Given the description of an element on the screen output the (x, y) to click on. 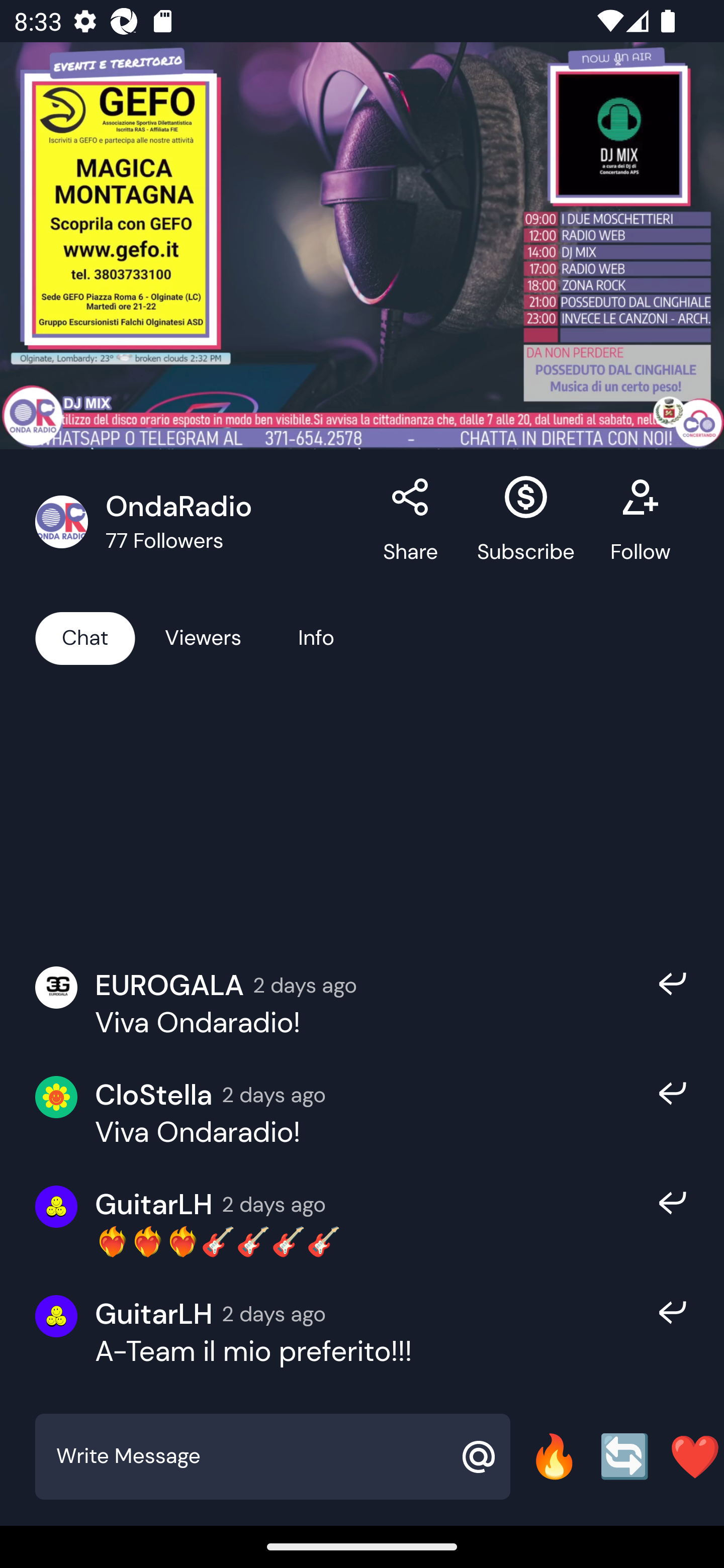
OndaRadio, 77 Followers OndaRadio 77 Followers (198, 521)
Share (410, 521)
Subscribe (525, 521)
Follow (640, 521)
Chat (84, 636)
Viewers (203, 636)
Info (316, 636)
EUROGALA (168, 984)
CloStella (153, 1094)
GuitarLH (153, 1204)
GuitarLH (153, 1313)
Write Message (250, 1456)
🔥 (553, 1456)
🔄 (624, 1456)
❤️ (694, 1456)
